Given the description of an element on the screen output the (x, y) to click on. 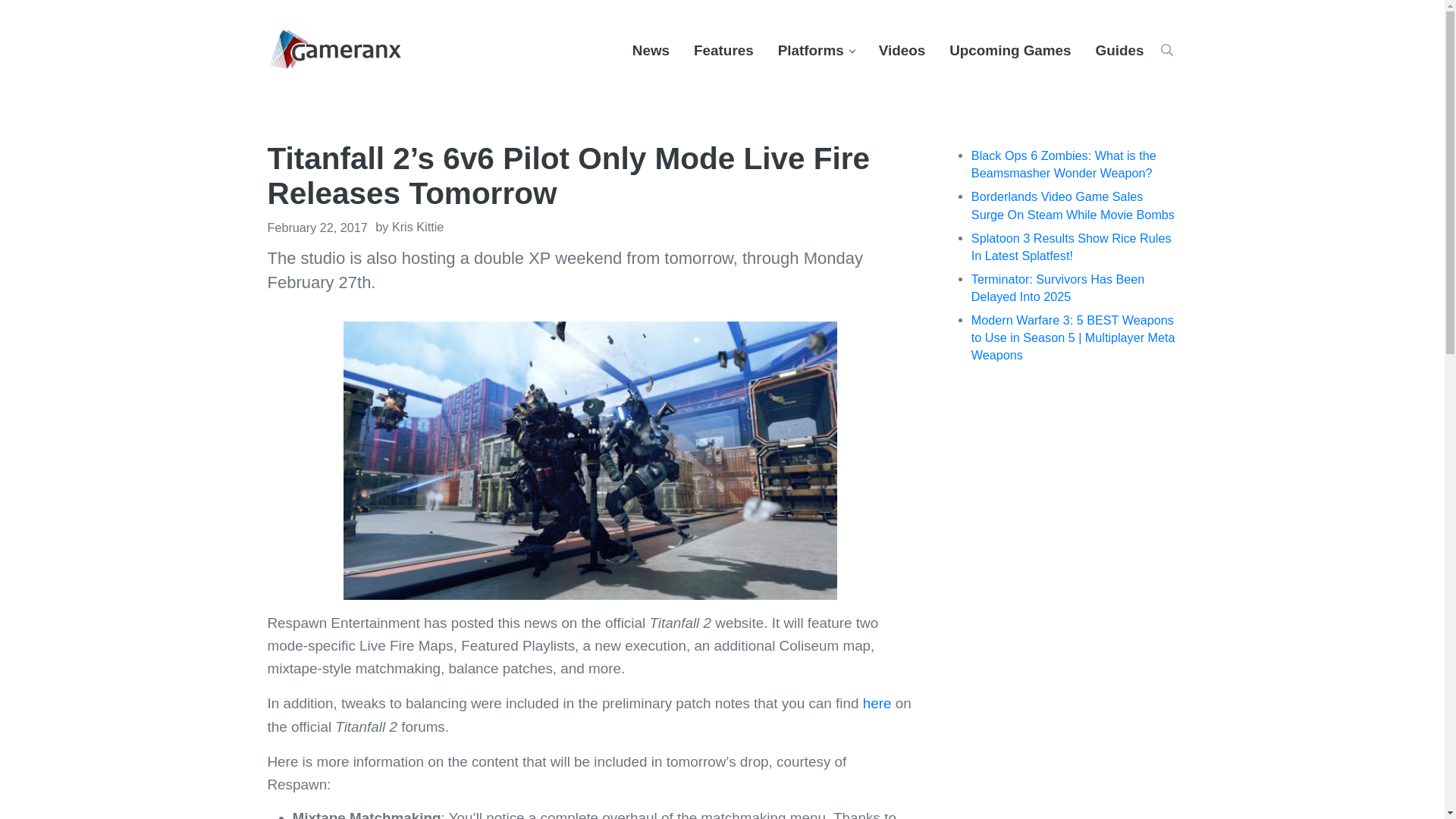
Kris Kittie (417, 226)
Platforms (815, 50)
Upcoming Games (1010, 50)
Videos (901, 50)
News (650, 50)
Guides (1119, 50)
here (877, 703)
Features (723, 50)
